Given the description of an element on the screen output the (x, y) to click on. 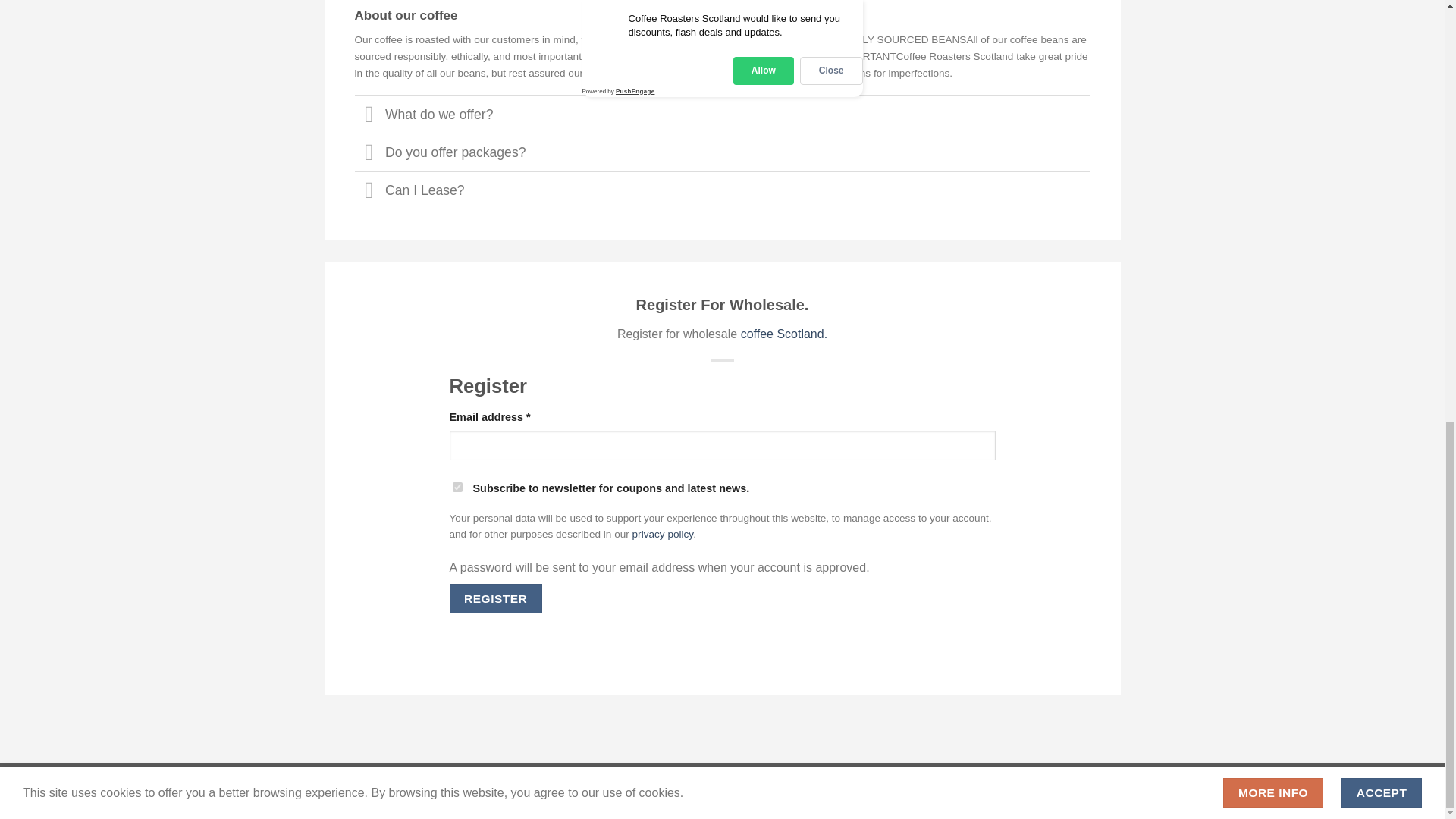
What do we offer? (722, 113)
privacy policy (662, 533)
Can I Lease? (722, 190)
1 (456, 487)
REGISTER (494, 598)
coffee Scotland. (784, 333)
Do you offer packages? (722, 151)
